Given the description of an element on the screen output the (x, y) to click on. 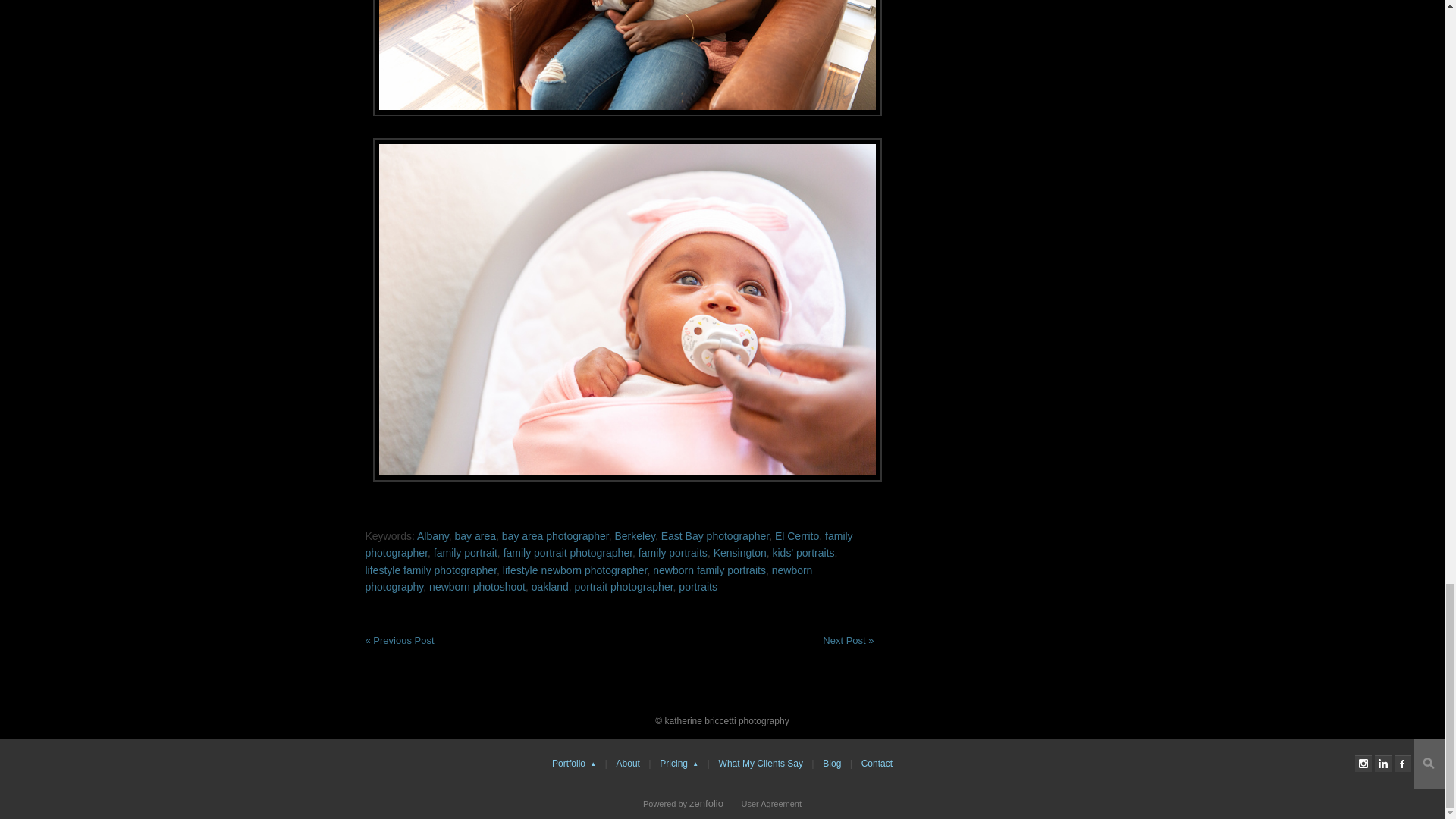
Berkeley (633, 535)
kids' portraits (802, 552)
family portrait (465, 552)
Kensington (740, 552)
family portrait photographer (567, 552)
El Cerrito (796, 535)
bay area photographer (555, 535)
bay area (475, 535)
family portraits (673, 552)
East Bay photographer (714, 535)
Albany (432, 535)
family photographer (609, 543)
